Given the description of an element on the screen output the (x, y) to click on. 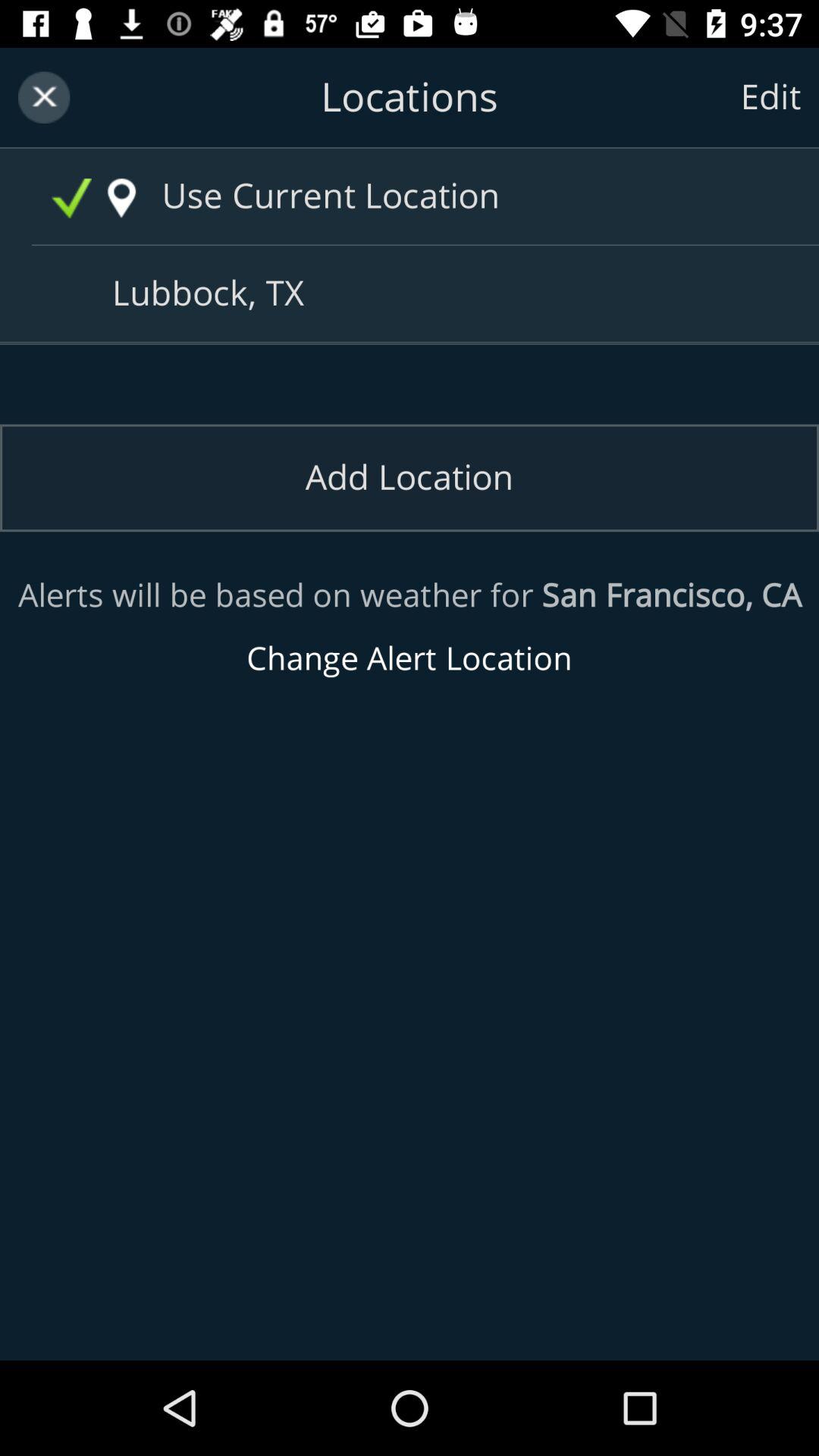
click on the icon which is on the top left corner (43, 97)
select the green tick just left to the location icon (71, 198)
click on location icon (121, 198)
select the text edit (770, 97)
select the text lubbock tx (415, 294)
select the text lubbock tx (415, 294)
click on the use current location option (440, 196)
click on the location icon beside use current location (121, 198)
go to the text which says lubbock tx (415, 294)
select the text to the right of location icon (440, 196)
click on the icon which is beside location icon (71, 198)
